Given the description of an element on the screen output the (x, y) to click on. 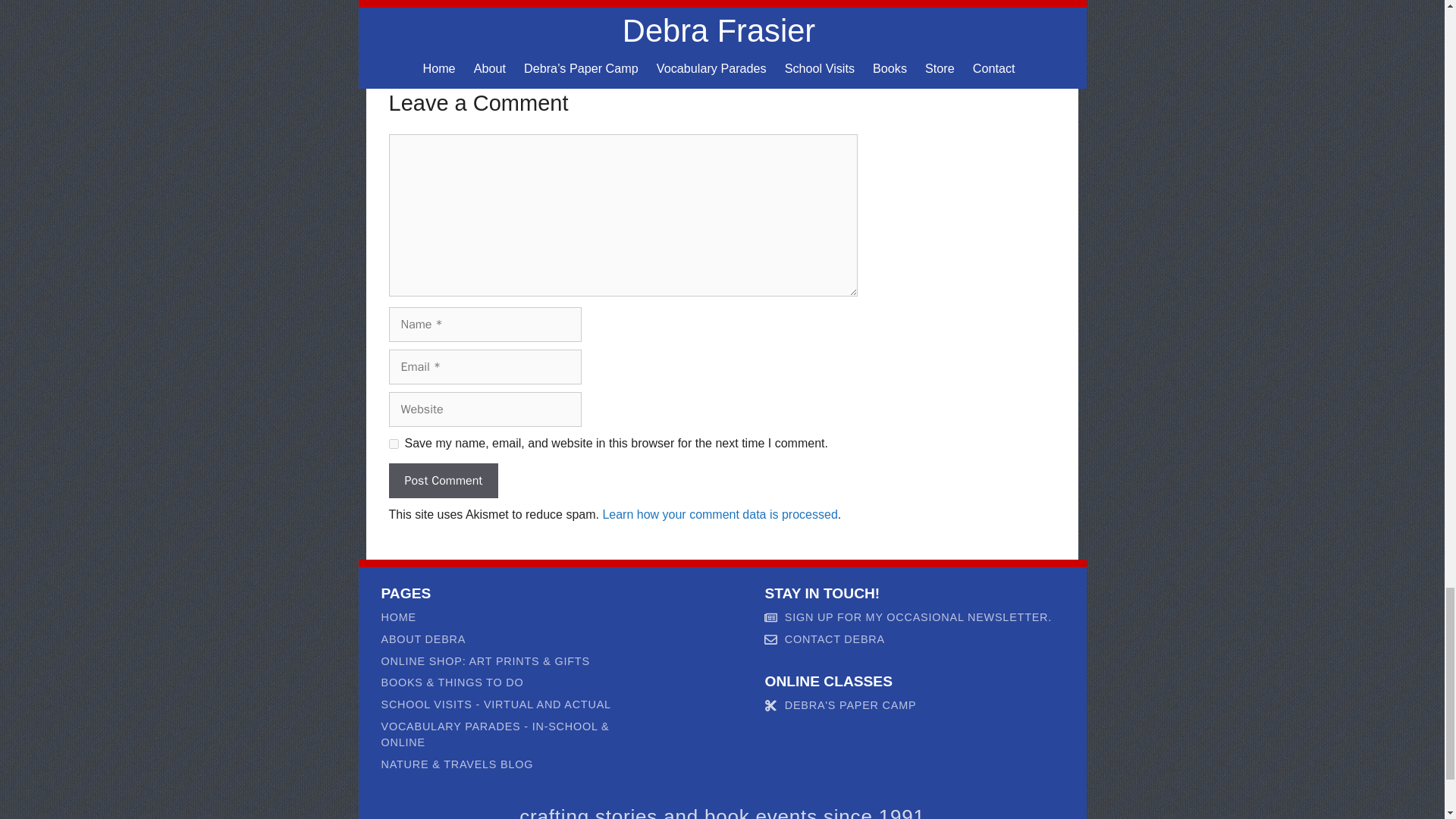
Post Comment (442, 480)
yes (392, 443)
Post Comment (442, 480)
